Given the description of an element on the screen output the (x, y) to click on. 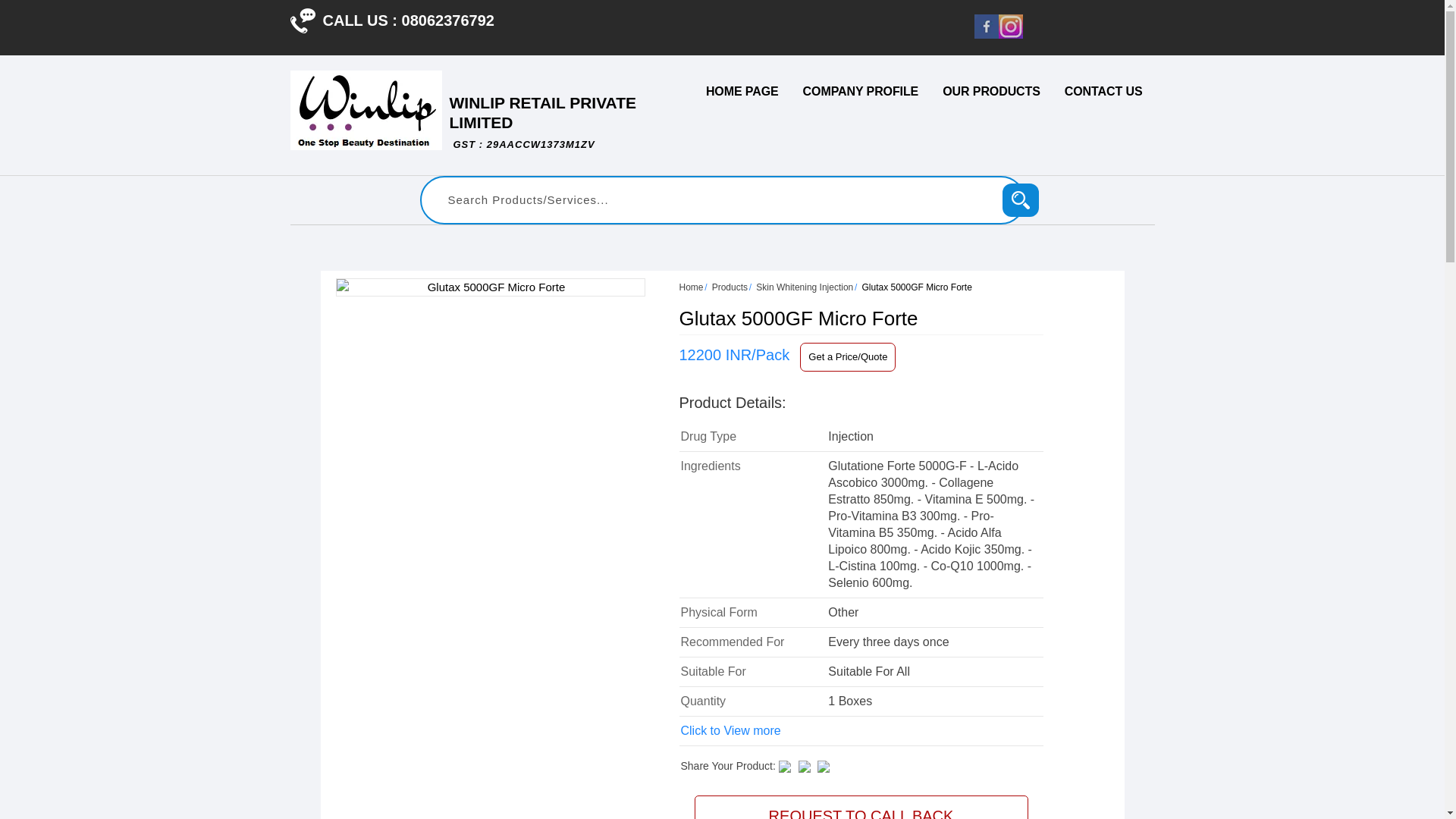
COMPANY PROFILE (860, 91)
Facebook (985, 33)
submit (542, 122)
OUR PRODUCTS (1021, 200)
HOME PAGE (991, 91)
Call Us (742, 91)
Instagram (301, 20)
Search (1009, 33)
